Given the description of an element on the screen output the (x, y) to click on. 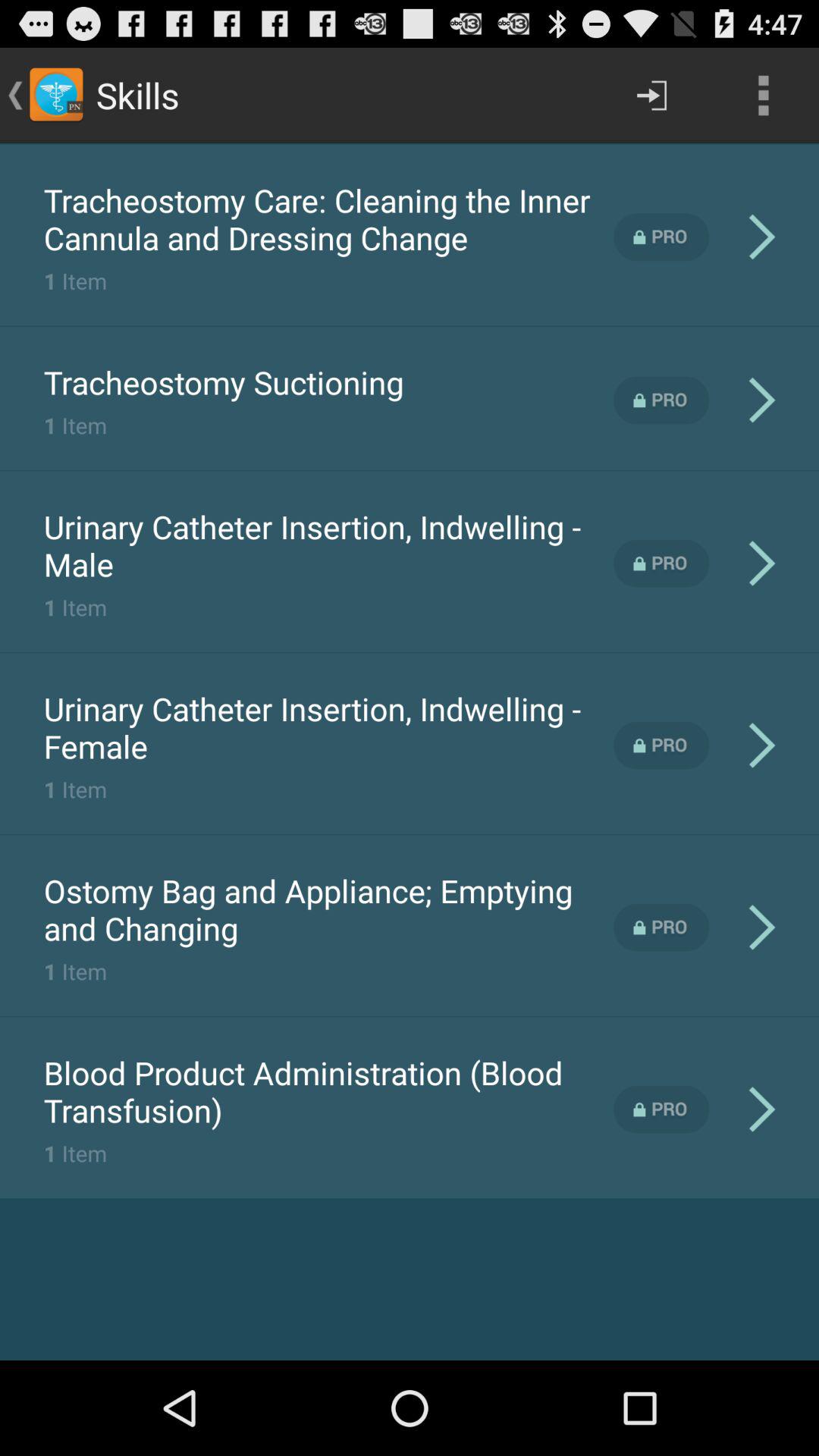
jump to the blood product administration (328, 1091)
